Given the description of an element on the screen output the (x, y) to click on. 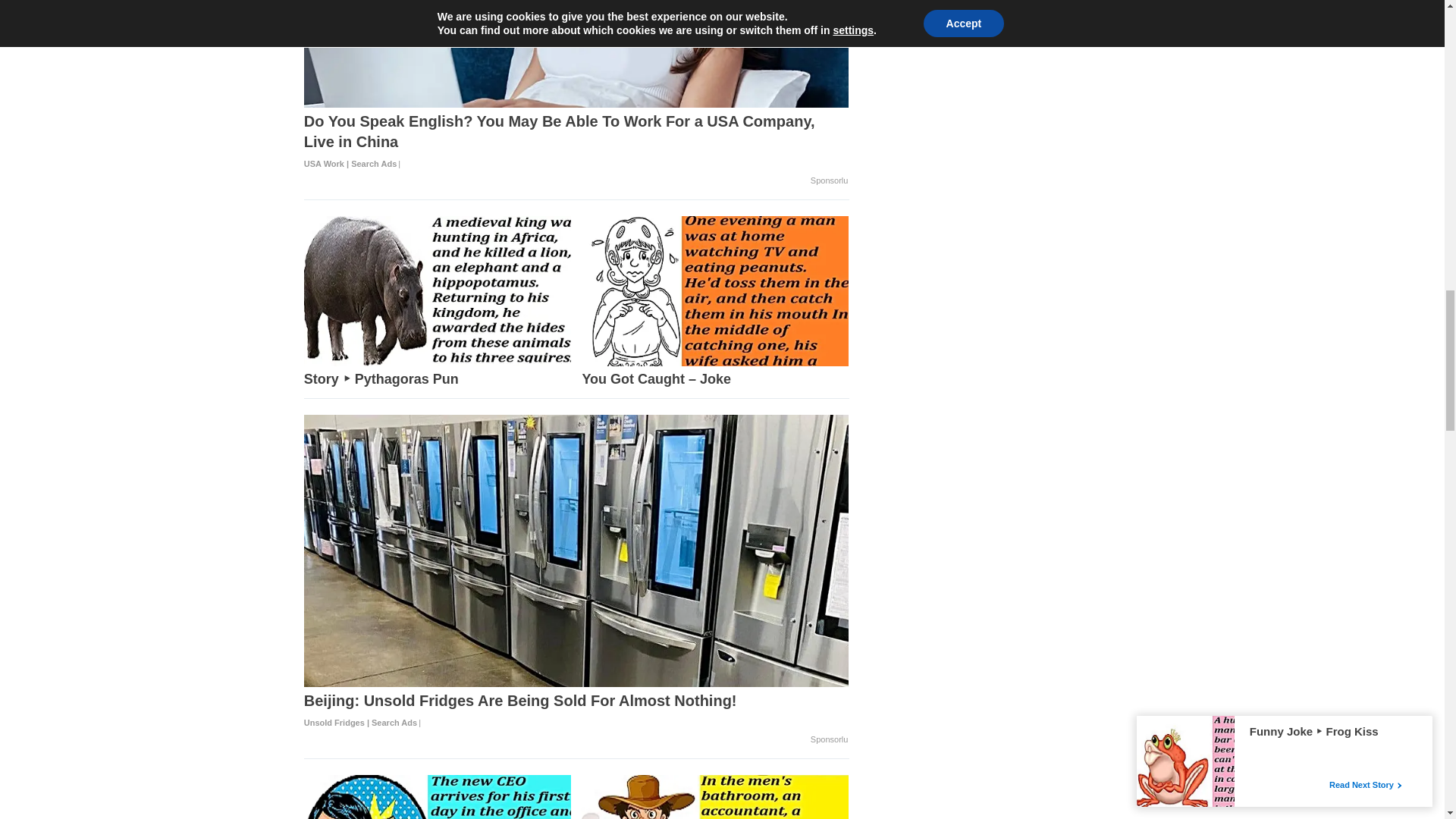
Sponsorlu (829, 181)
